Given the description of an element on the screen output the (x, y) to click on. 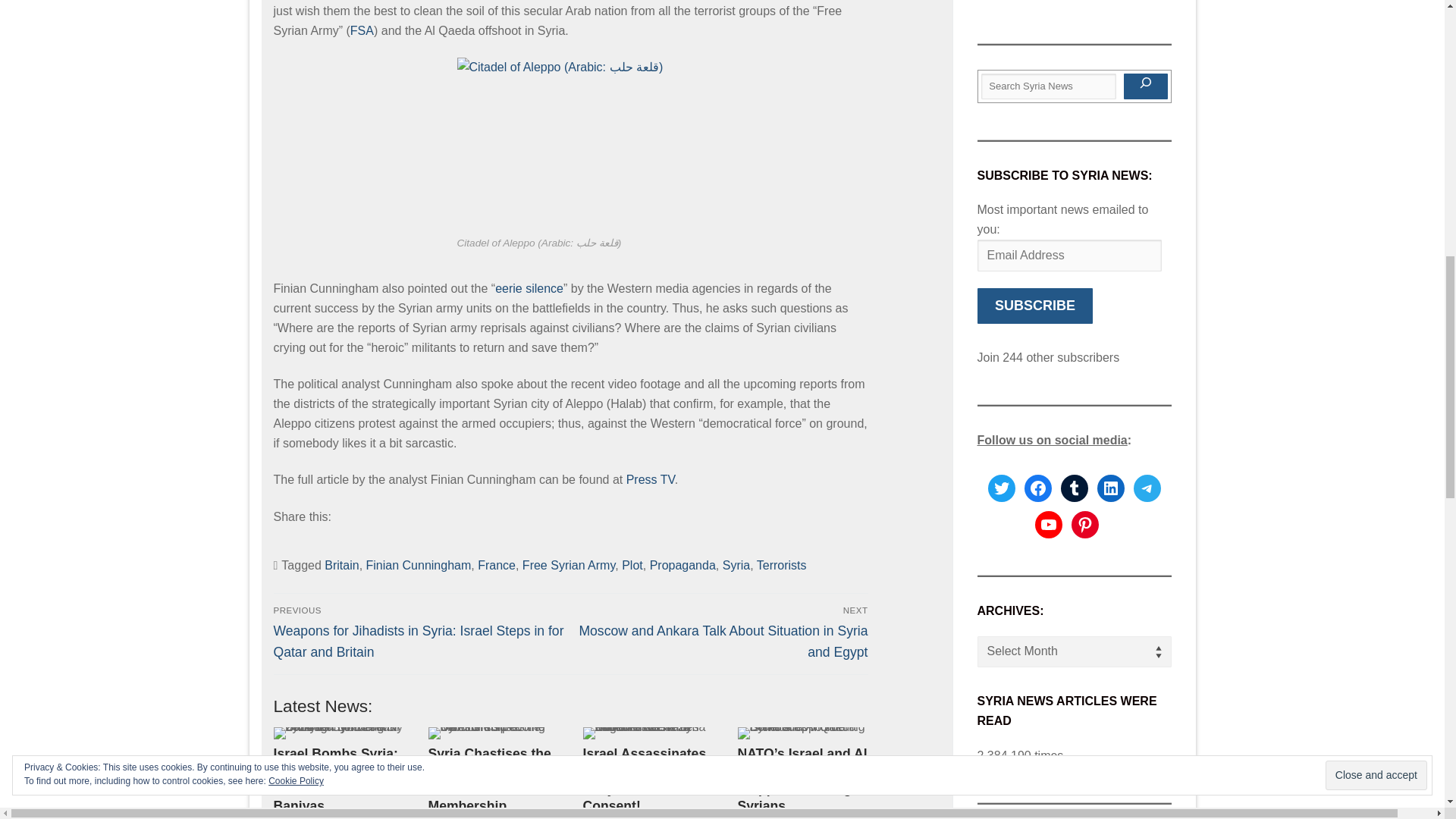
eerie silence (529, 287)
Press TV (650, 479)
FSA (362, 30)
